Given the description of an element on the screen output the (x, y) to click on. 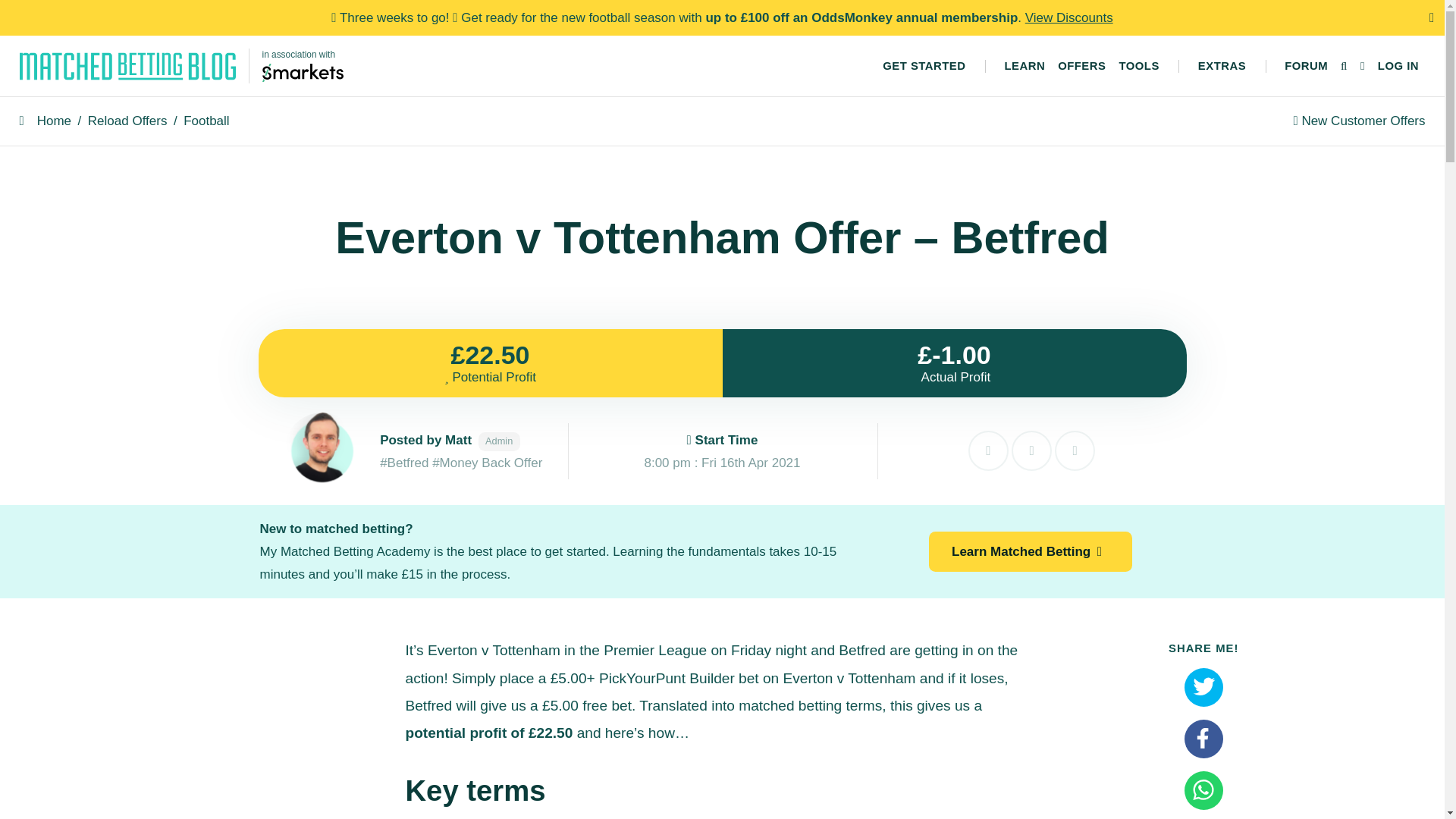
LEARN (1024, 65)
Hide offer (988, 450)
Mark as 'in progress' (1031, 450)
Forum (1306, 65)
Log in (1398, 65)
Extras (1221, 65)
Offers (1081, 65)
Tools (1139, 65)
GET STARTED (924, 65)
TOOLS (1139, 65)
